Given the description of an element on the screen output the (x, y) to click on. 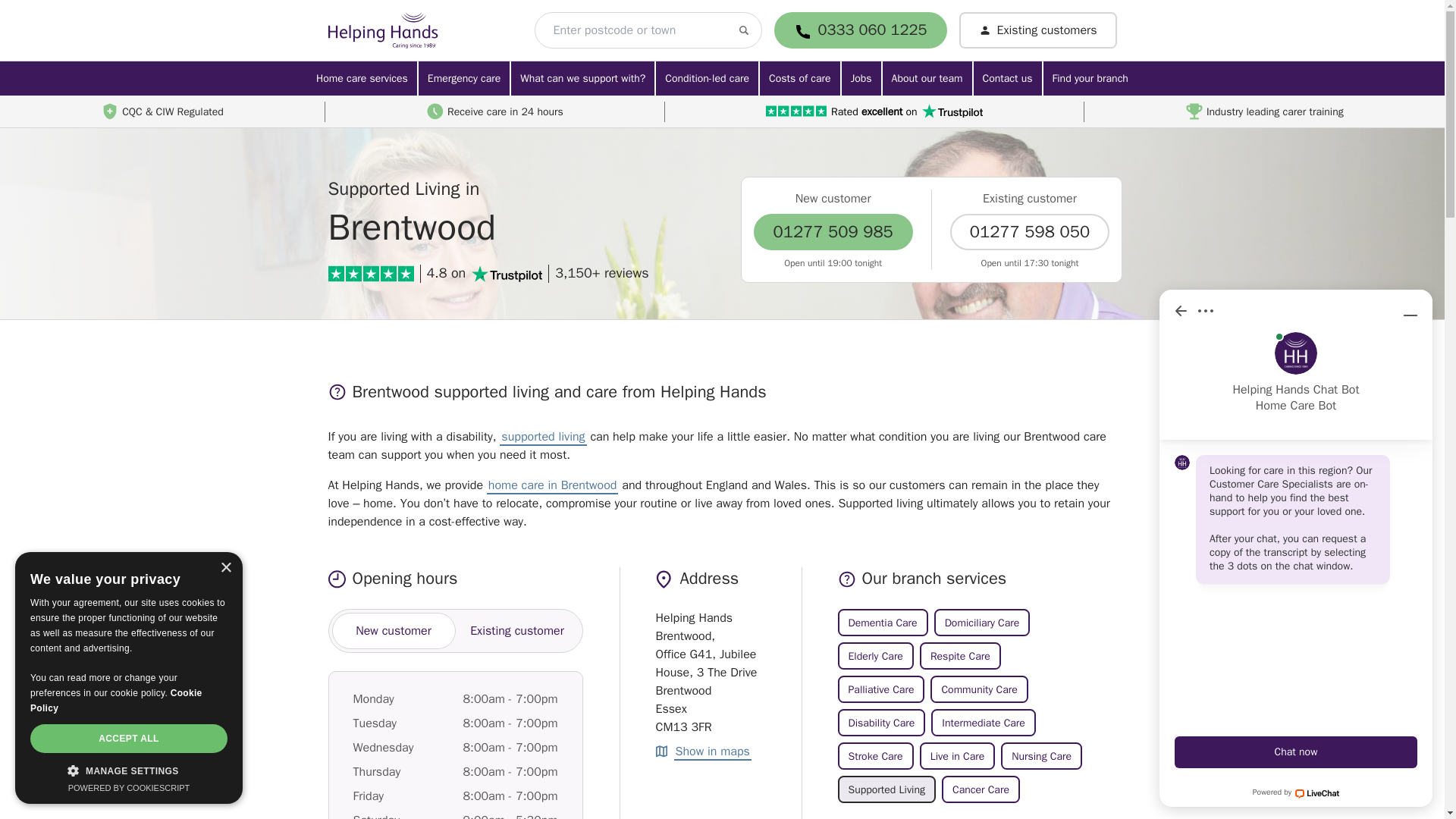
0333 060 1225 (872, 29)
Existing customers (1037, 30)
